Given the description of an element on the screen output the (x, y) to click on. 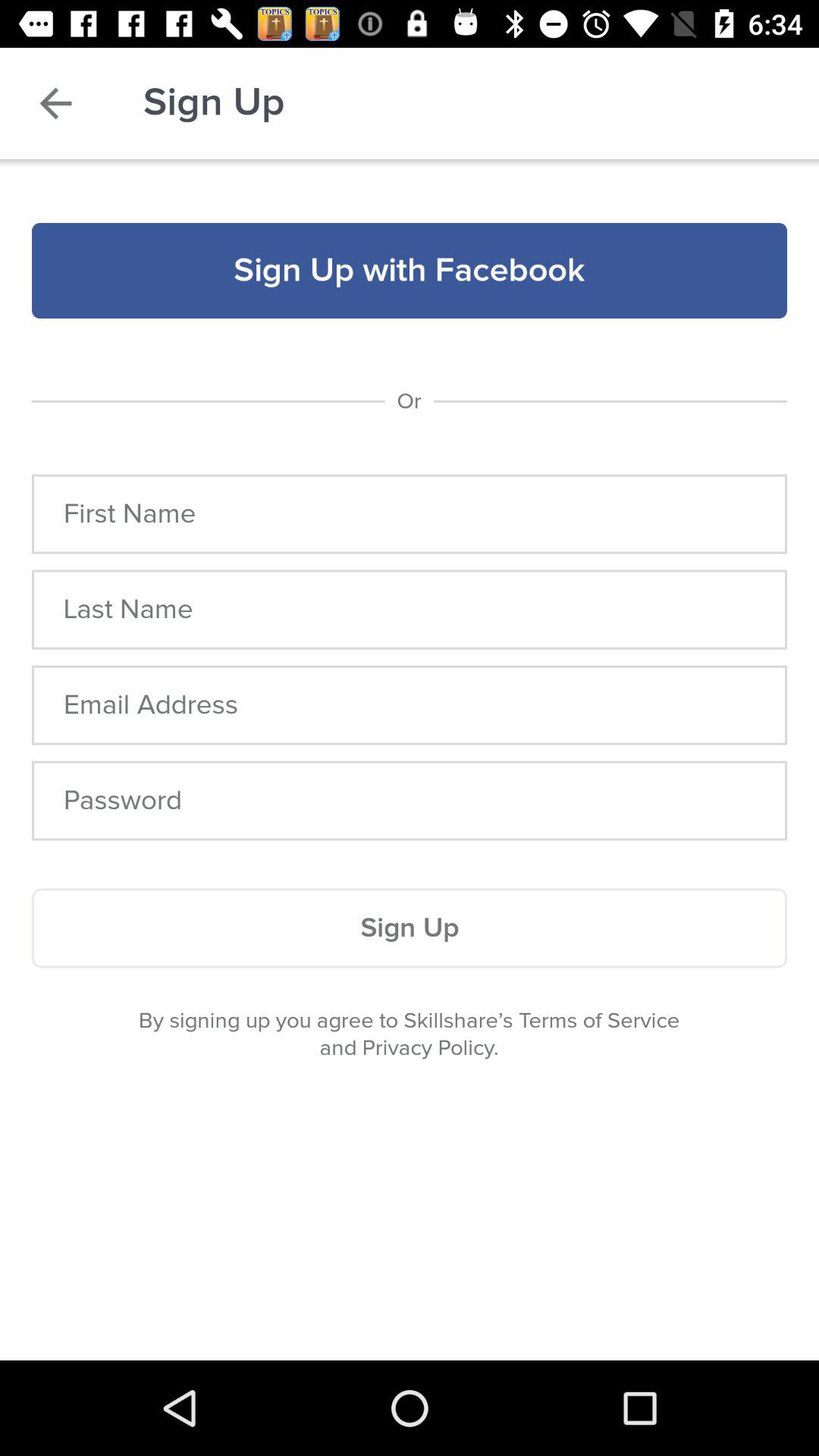
open field to enter password (409, 800)
